Given the description of an element on the screen output the (x, y) to click on. 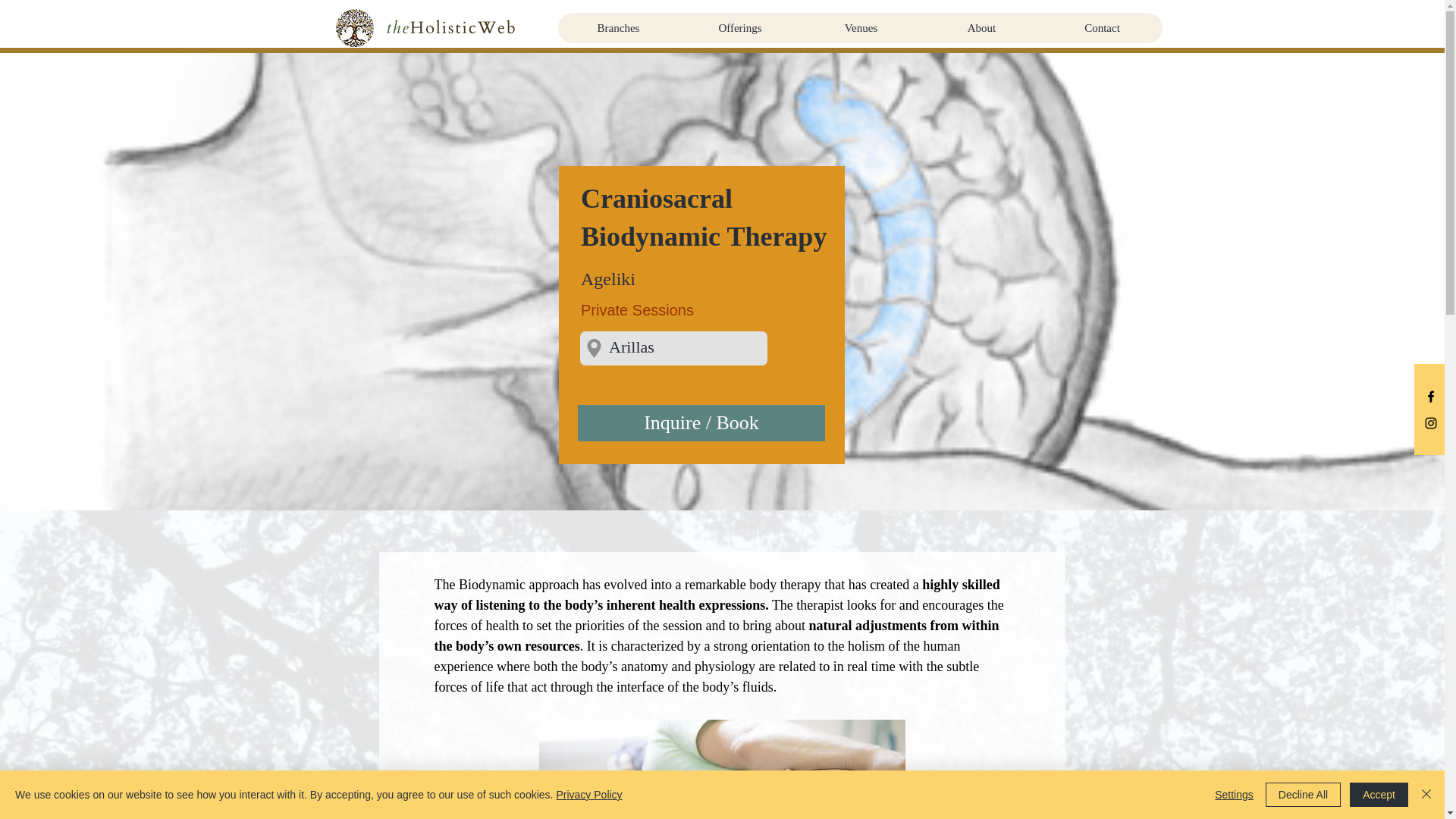
Decline All (1302, 794)
Accept (1378, 794)
Privacy Policy (588, 794)
Contact (1101, 28)
About (980, 28)
